Given the description of an element on the screen output the (x, y) to click on. 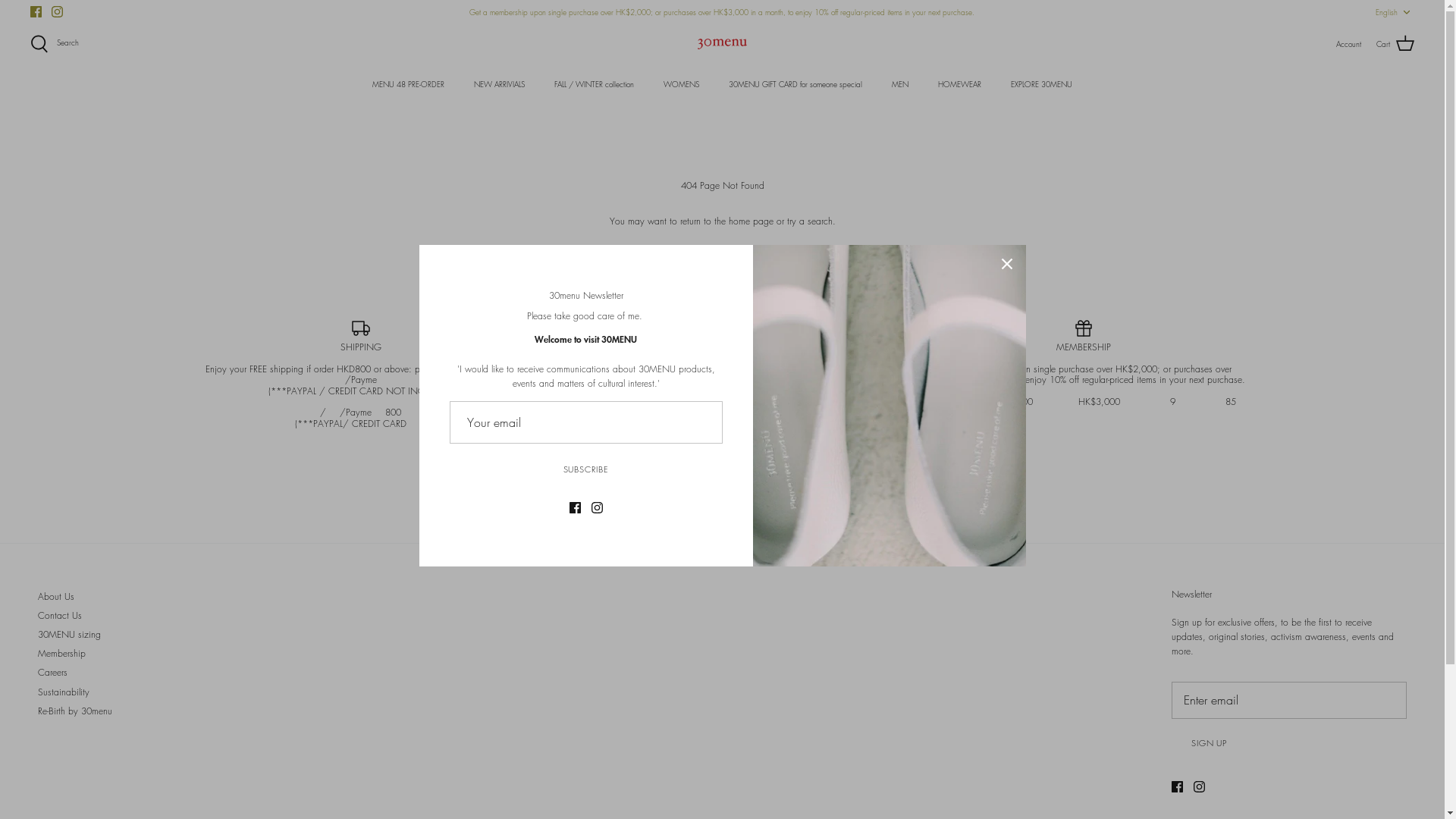
MEN Element type: text (900, 84)
English
Down Element type: text (1394, 11)
Re-Birth by 30menu Element type: text (74, 710)
30MENU Element type: hover (721, 43)
home page Element type: text (750, 220)
Facebook Element type: text (35, 11)
Careers Element type: text (52, 671)
Sustainability Element type: text (63, 691)
FALL / WINTER collection Element type: text (593, 84)
WOMENS Element type: text (680, 84)
Instagram Element type: text (1198, 786)
About Us Element type: text (55, 595)
Contact Us Element type: text (59, 614)
Instagram Element type: text (56, 11)
SUBSCRIBE Element type: text (584, 468)
NEW ARRIVIALS Element type: text (499, 84)
Facebook Element type: text (1177, 786)
SIGN UP Element type: text (1208, 742)
Search Element type: text (54, 43)
30MENU sizing Element type: text (68, 633)
Cart Element type: text (1395, 43)
try a search Element type: text (809, 220)
HOMEWEAR Element type: text (959, 84)
EXPLORE 30MENU Element type: text (1041, 84)
MENU 48 PRE-ORDER Element type: text (408, 84)
Membership Element type: text (61, 652)
30MENU GIFT CARD for someone special Element type: text (795, 84)
Account Element type: text (1348, 43)
